Given the description of an element on the screen output the (x, y) to click on. 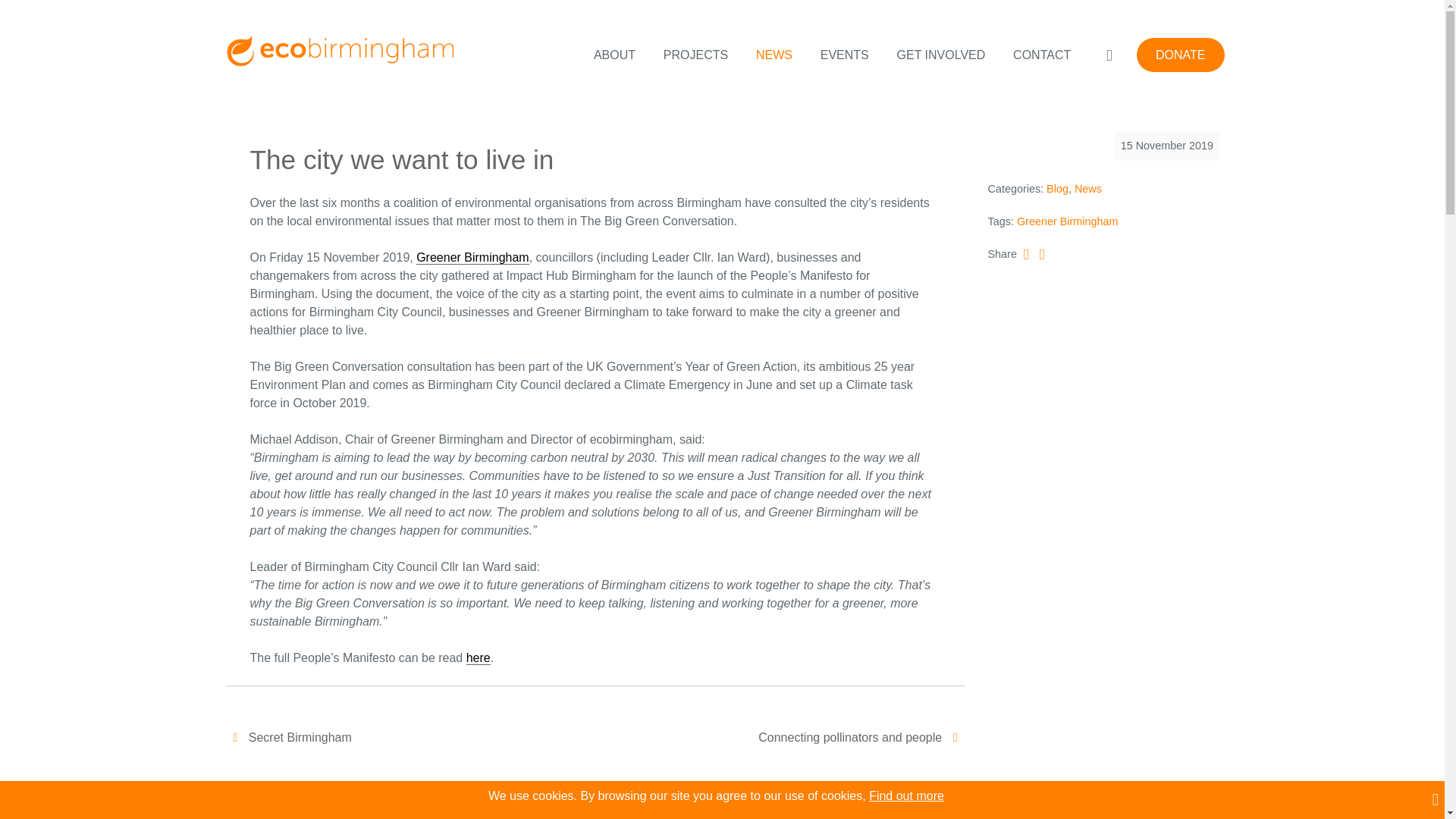
Connecting pollinators and people (860, 737)
EVENTS (844, 54)
here (477, 658)
NEWS (774, 54)
Greener Birmingham (472, 257)
CONTACT (1042, 54)
DONATE (1180, 54)
Secret Birmingham (288, 737)
Connecting pollinators and people (860, 737)
GET INVOLVED (940, 54)
PROJECTS (695, 54)
Blog (1057, 189)
The city we want to live in (402, 159)
ABOUT (614, 54)
Greener Birmingham (1067, 221)
